Given the description of an element on the screen output the (x, y) to click on. 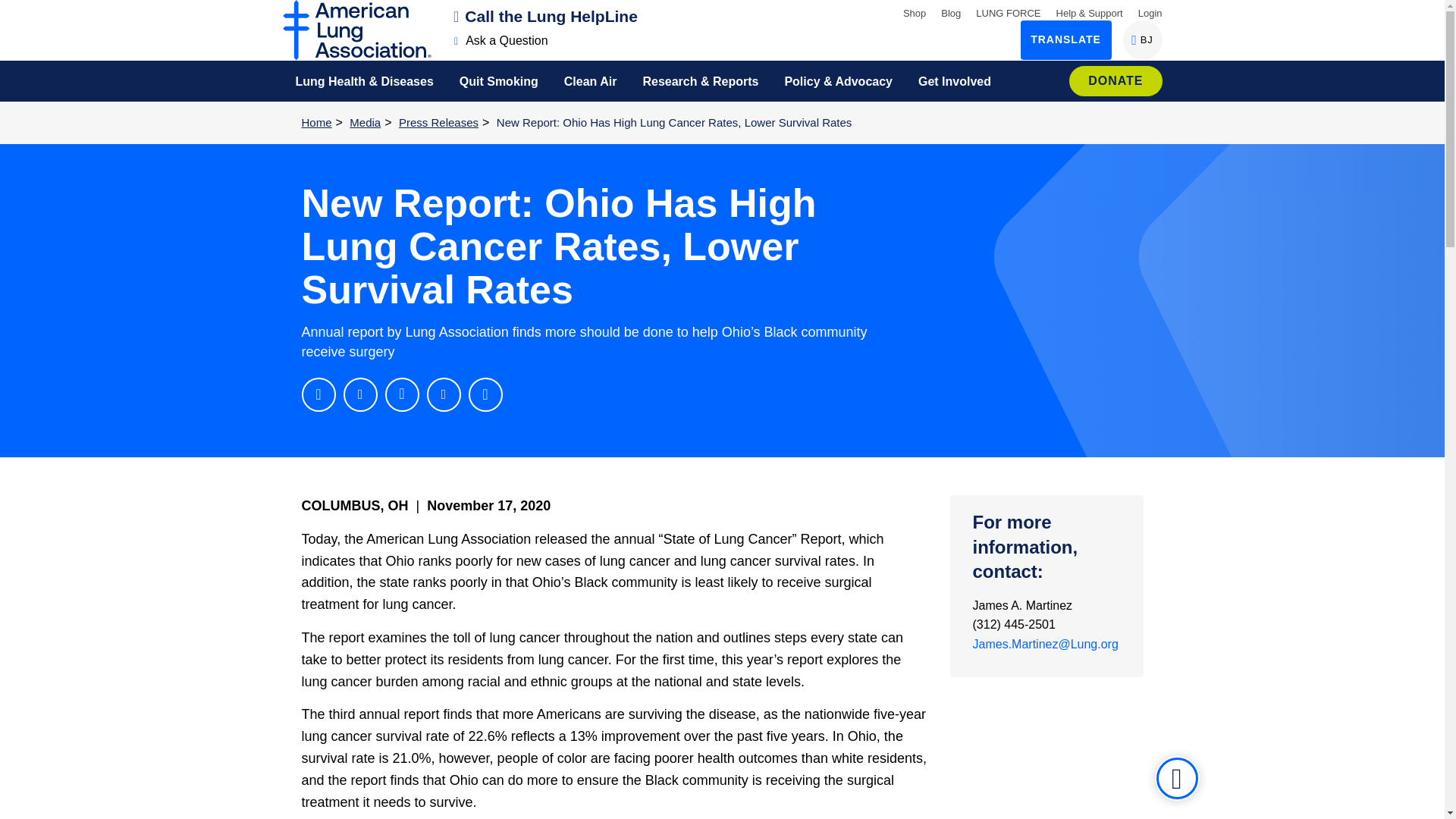
TRANSLATE (1066, 39)
Login (1149, 13)
Call the Lung HelpLine (1141, 39)
Blog (545, 16)
SKIP TO MAIN CONTENT (950, 13)
Ask a Question (18, 10)
Shop (501, 40)
LUNG FORCE (914, 13)
